Given the description of an element on the screen output the (x, y) to click on. 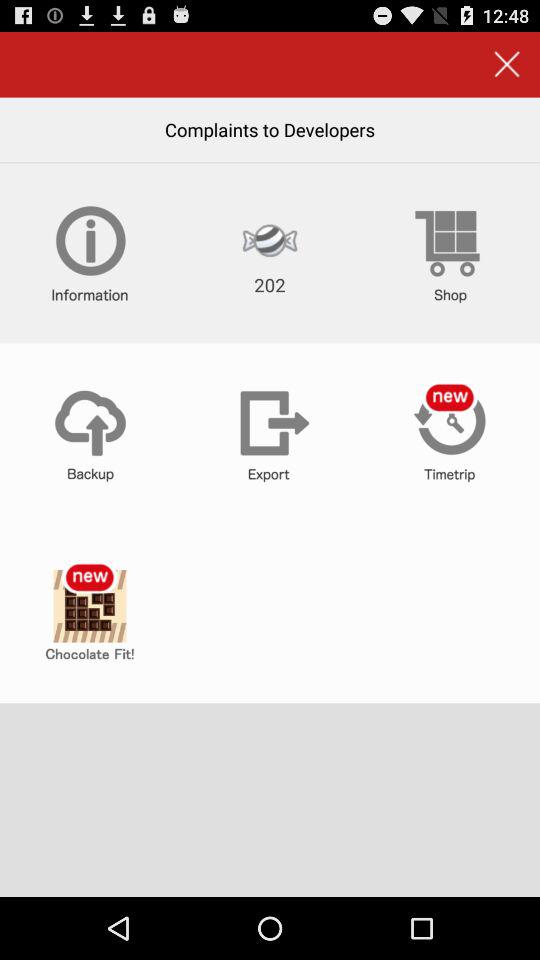
backup cloud data (90, 433)
